Given the description of an element on the screen output the (x, y) to click on. 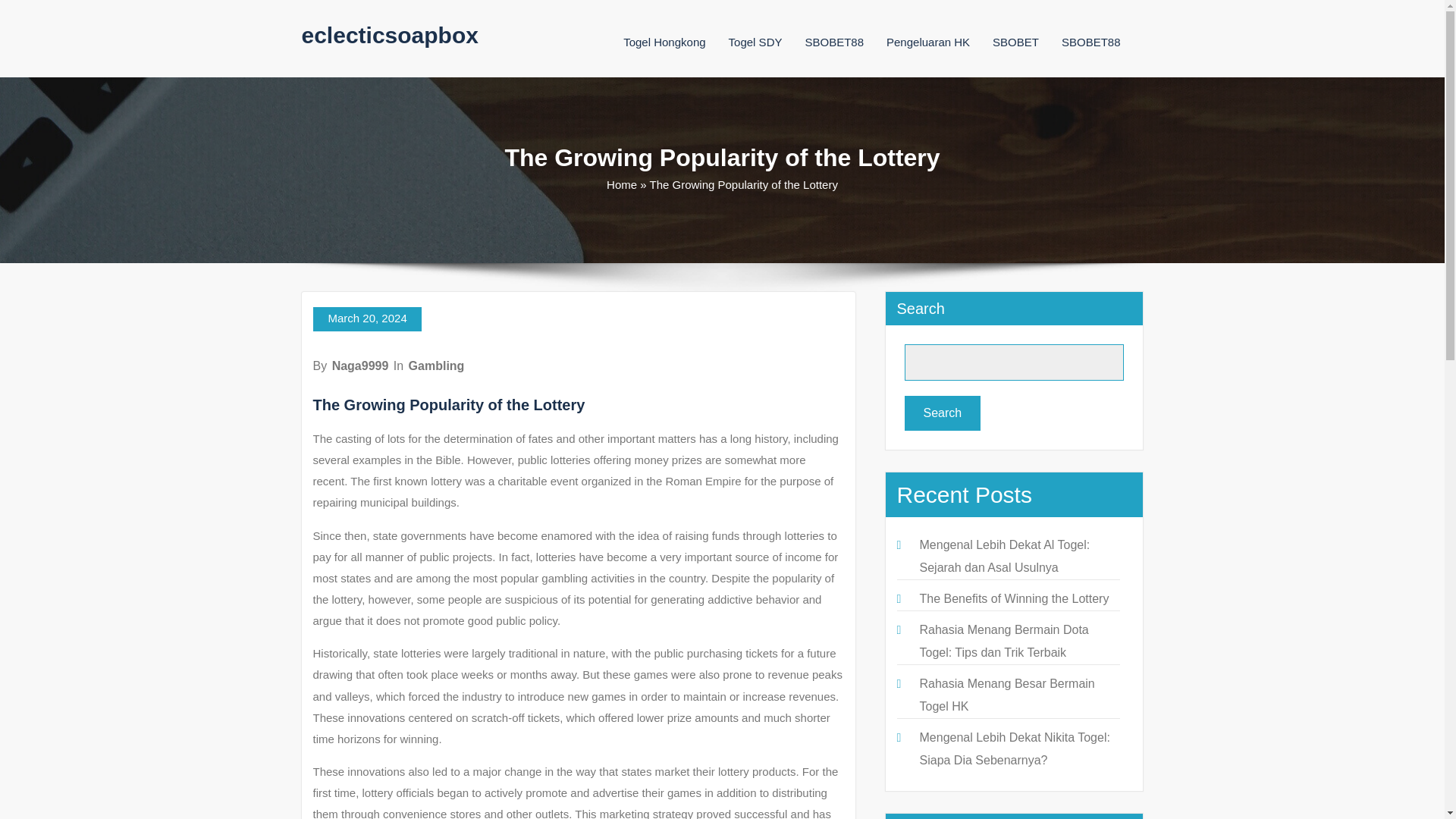
Gambling (436, 365)
Mengenal Lebih Dekat Nikita Togel: Siapa Dia Sebenarnya? (1013, 748)
Rahasia Menang Bermain Dota Togel: Tips dan Trik Terbaik (1002, 641)
Togel SDY (756, 41)
Togel Hongkong (663, 41)
Rahasia Menang Besar Bermain Togel HK (1006, 694)
SBOBET (1015, 41)
eclecticsoapbox (390, 34)
SBOBET88 (834, 41)
Home (622, 184)
SBOBET88 (1091, 41)
Naga9999 (360, 365)
Mengenal Lebih Dekat Al Togel: Sejarah dan Asal Usulnya (1003, 556)
Search (941, 412)
The Benefits of Winning the Lottery (1013, 598)
